Given the description of an element on the screen output the (x, y) to click on. 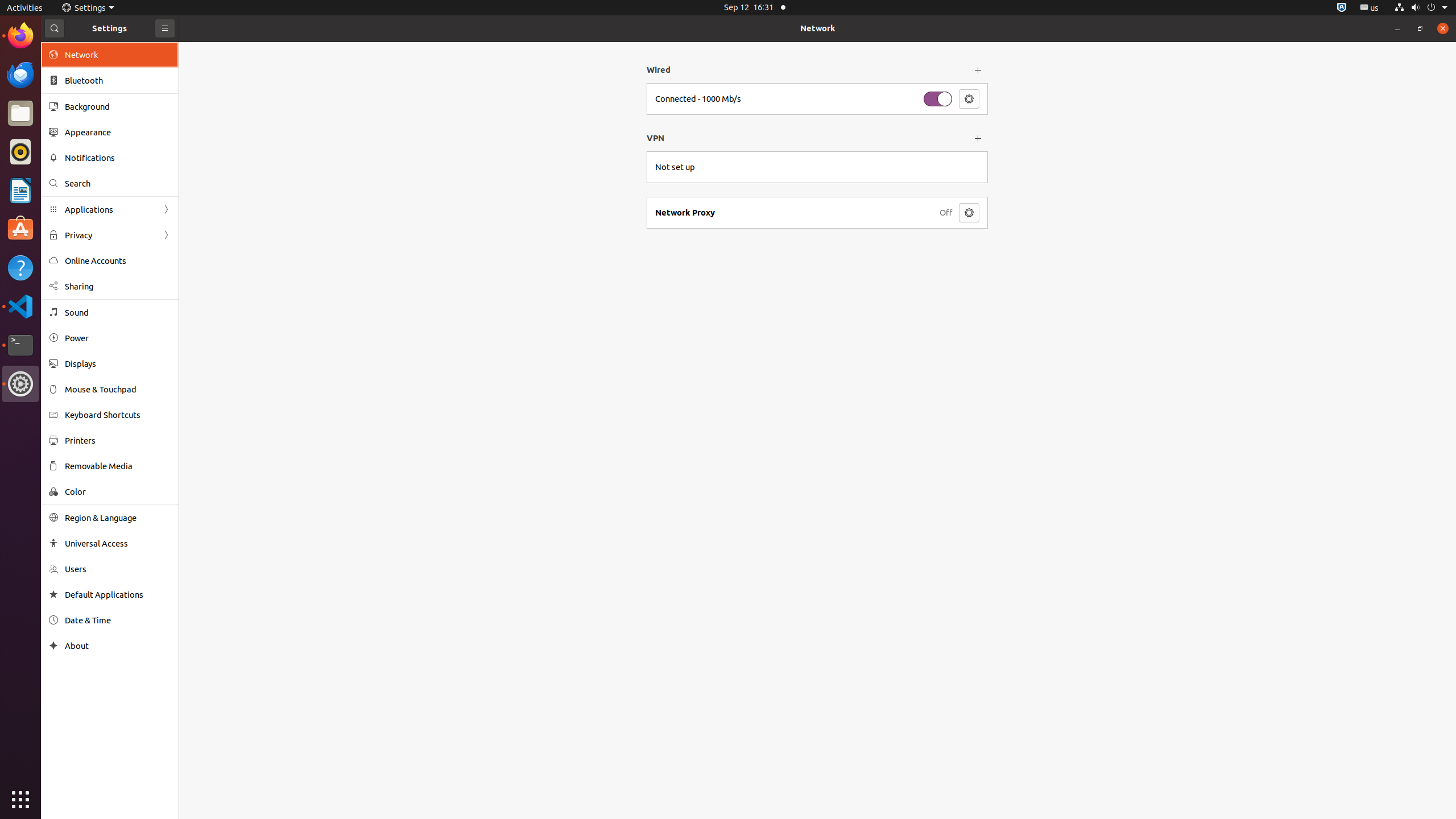
IsaHelpMain.desktop Element type: label (75, 170)
Options… Element type: push-button (968, 98)
Color Element type: label (117, 491)
Off Element type: label (945, 212)
